Given the description of an element on the screen output the (x, y) to click on. 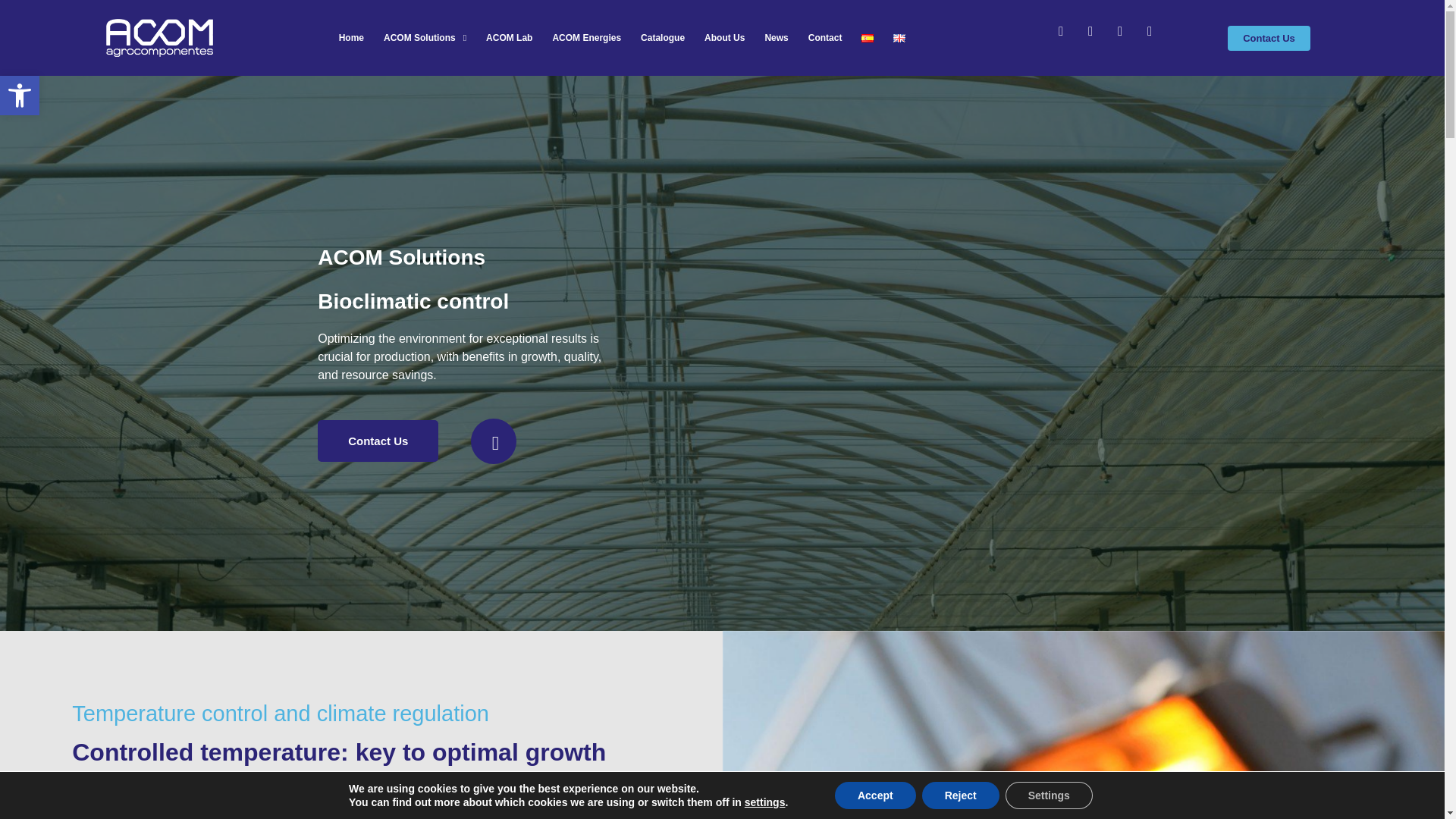
Home (351, 37)
News (775, 37)
Accessibility Tools (19, 95)
Contact (825, 37)
ACOM Solutions (425, 37)
ACOM Energies (586, 37)
ACOM Lab (509, 37)
About Us (724, 37)
Catalogue (19, 95)
Accessibility Tools (662, 37)
